Given the description of an element on the screen output the (x, y) to click on. 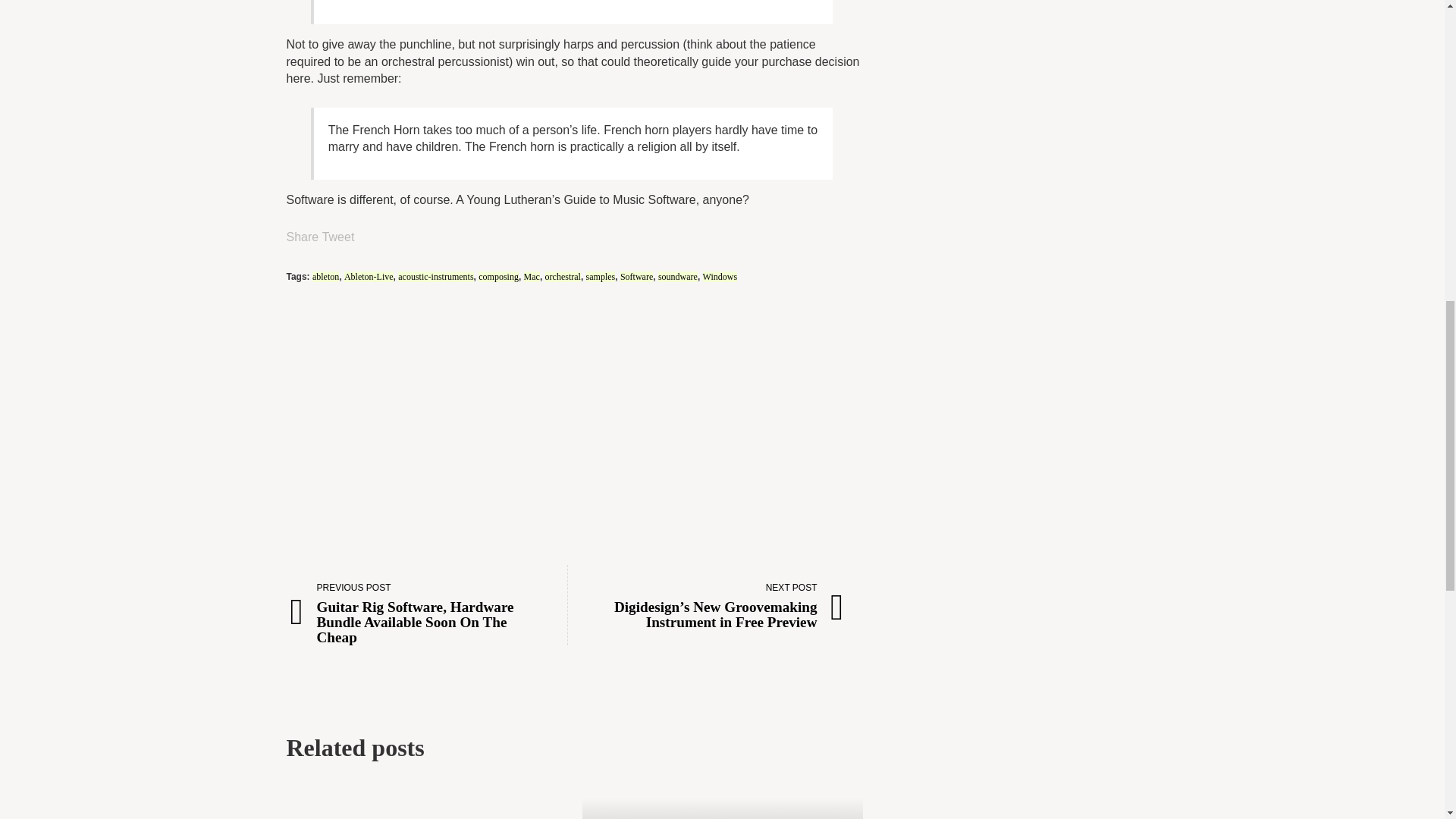
ableton (326, 276)
Share (302, 236)
soundware (677, 276)
orchestral (562, 276)
Mac (532, 276)
Windows (720, 276)
Tweet (338, 236)
Software (636, 276)
Ableton-Live (368, 276)
samples (600, 276)
acoustic-instruments (435, 276)
composing (498, 276)
